Given the description of an element on the screen output the (x, y) to click on. 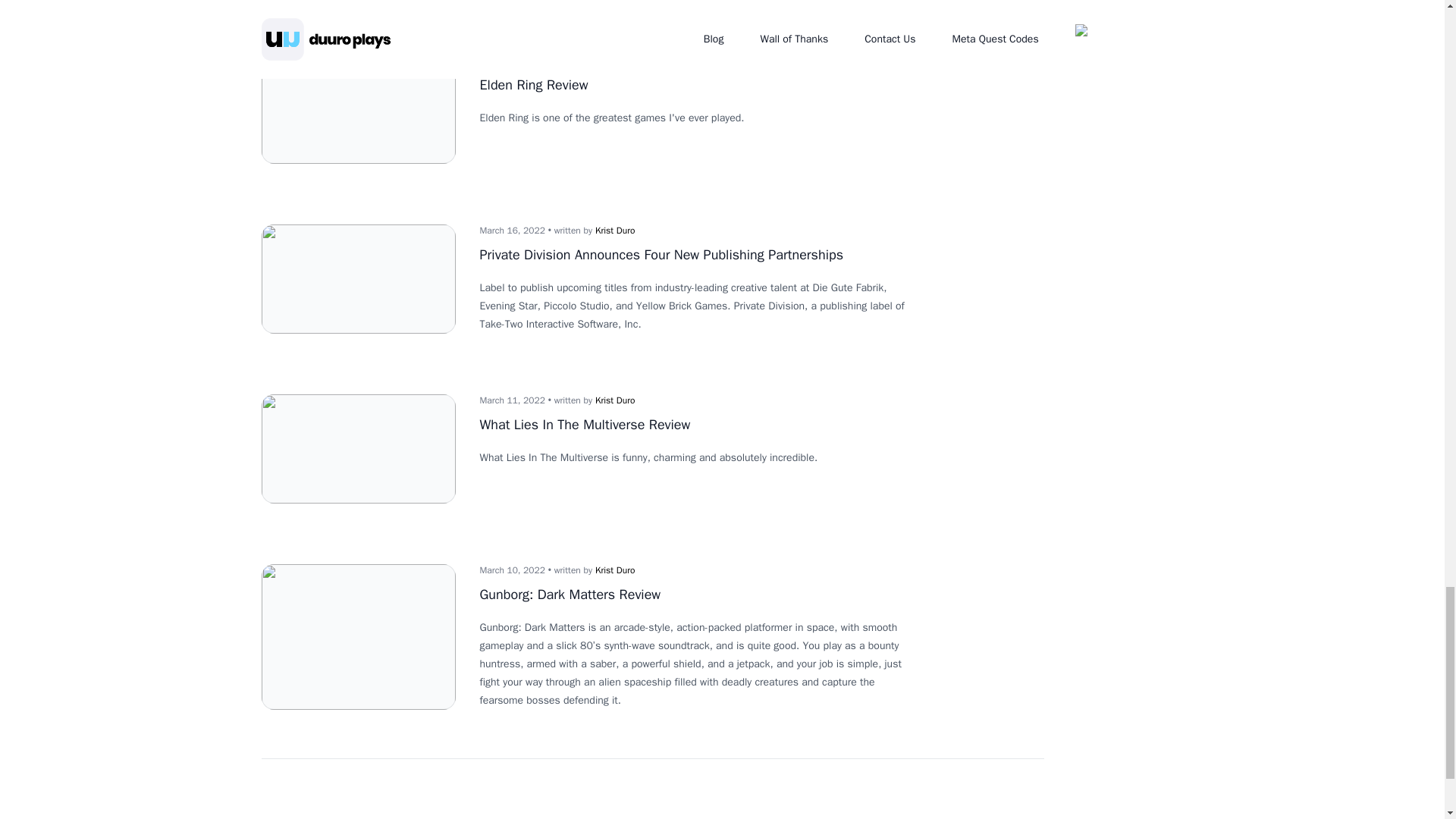
Elden Ring Review (533, 84)
Private Division Announces Four New Publishing Partnerships (661, 254)
Krist Duro (614, 60)
Krist Duro (614, 399)
Krist Duro (614, 230)
Krist Duro (614, 570)
Gunborg: Dark Matters Review (570, 594)
What Lies In The Multiverse Review (584, 424)
